Given the description of an element on the screen output the (x, y) to click on. 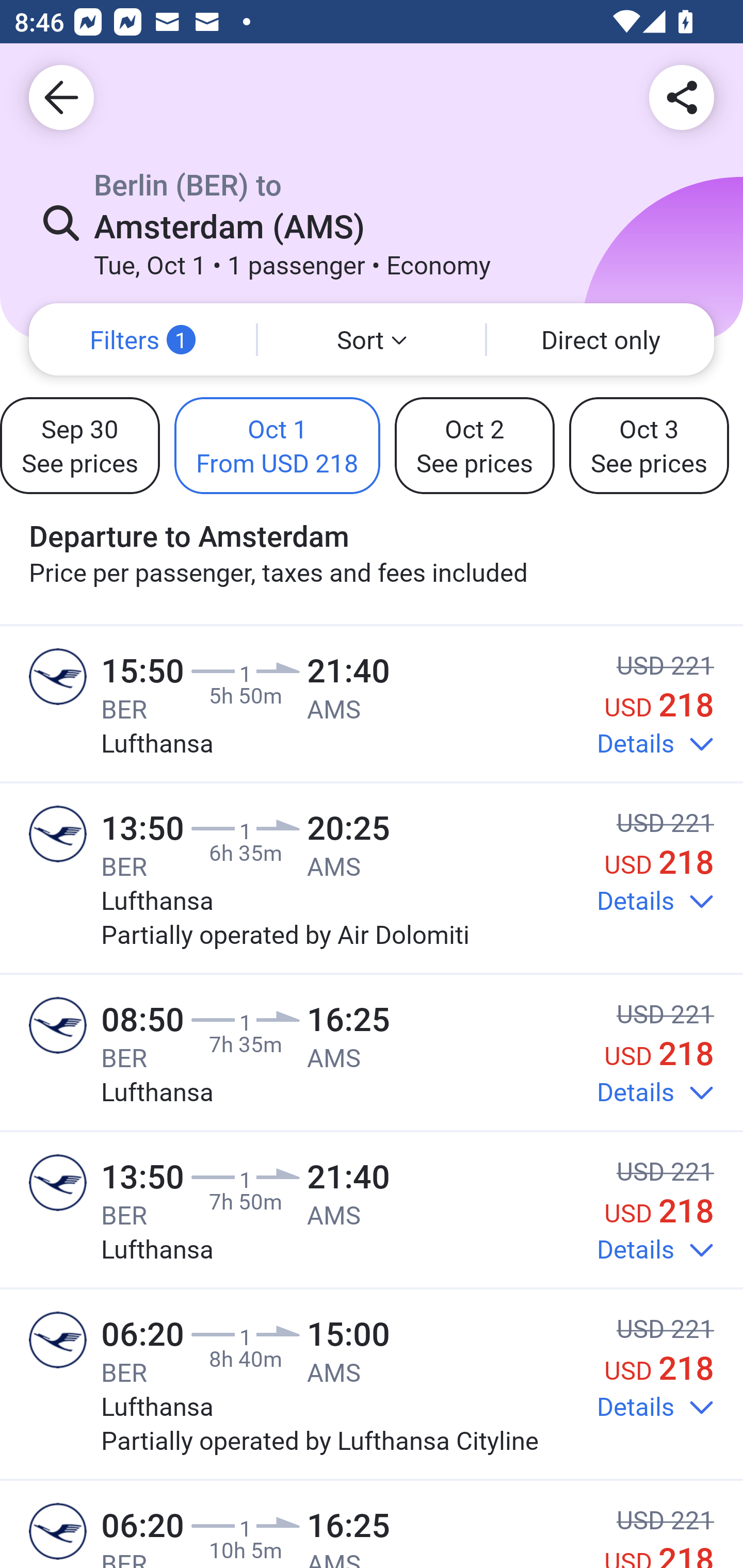
Filters 1 (141, 339)
Sort (371, 339)
Direct only (600, 339)
Sep 30 See prices (79, 444)
Oct 1 From USD 218 (277, 444)
Oct 2 See prices (474, 444)
Oct 3 See prices (648, 444)
